Given the description of an element on the screen output the (x, y) to click on. 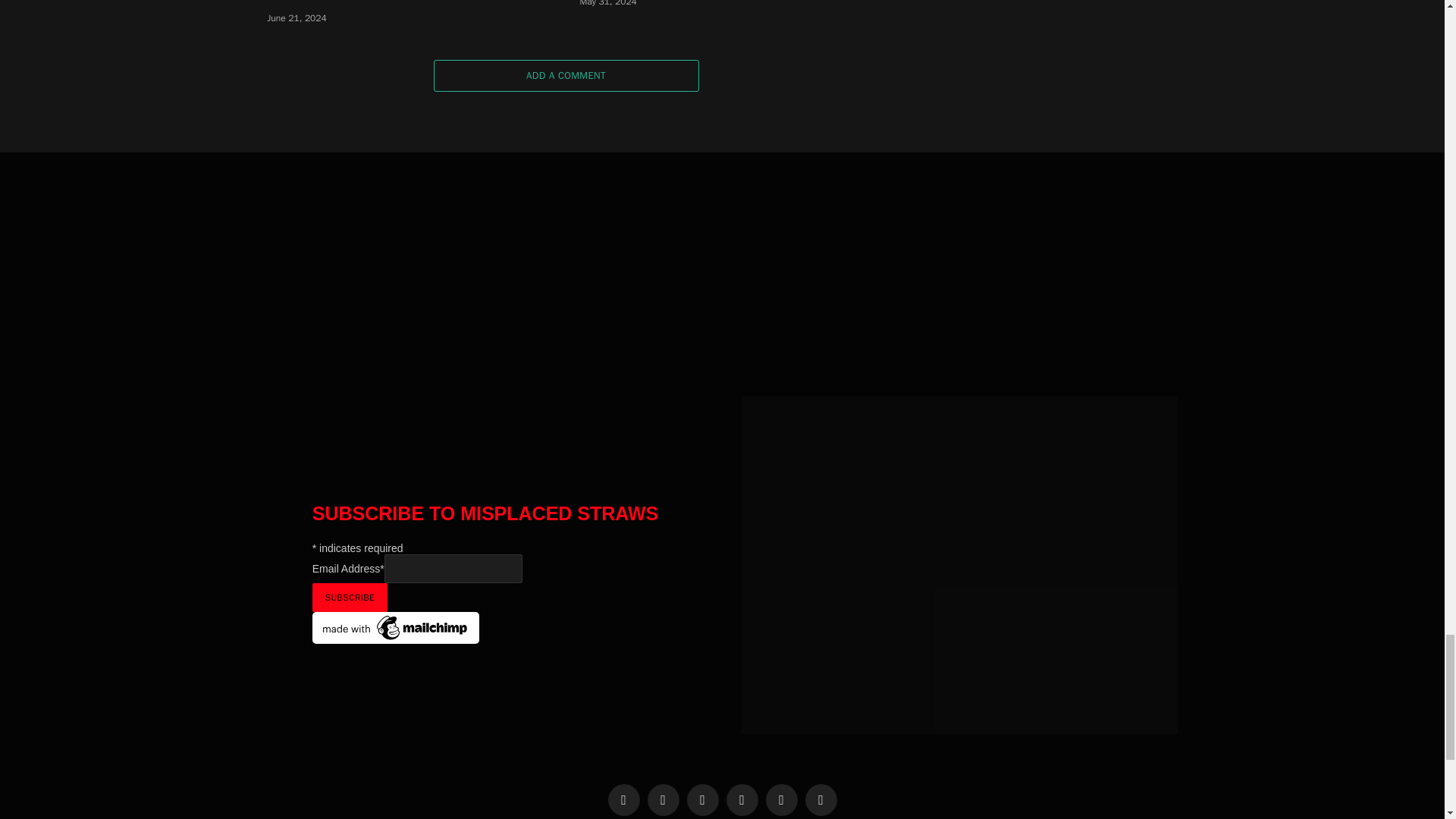
Subscribe (350, 597)
